Given the description of an element on the screen output the (x, y) to click on. 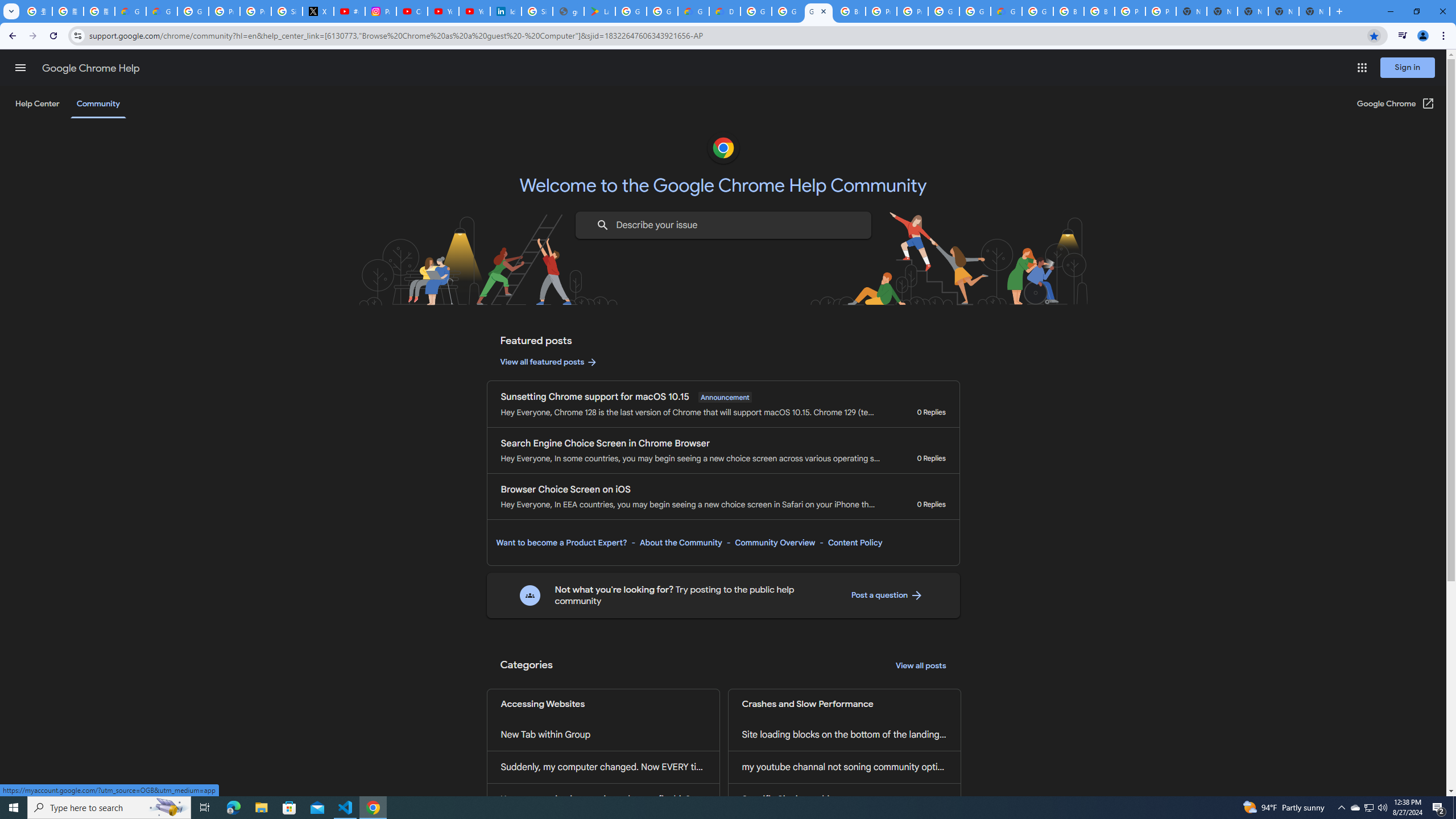
Community (97, 103)
Google Cloud Platform (974, 11)
Help Center (36, 103)
Google Cloud Privacy Notice (130, 11)
Google Chrome Community (818, 11)
Post a question  (886, 595)
Google Cloud Platform (1037, 11)
Sign in - Google Accounts (536, 11)
